Given the description of an element on the screen output the (x, y) to click on. 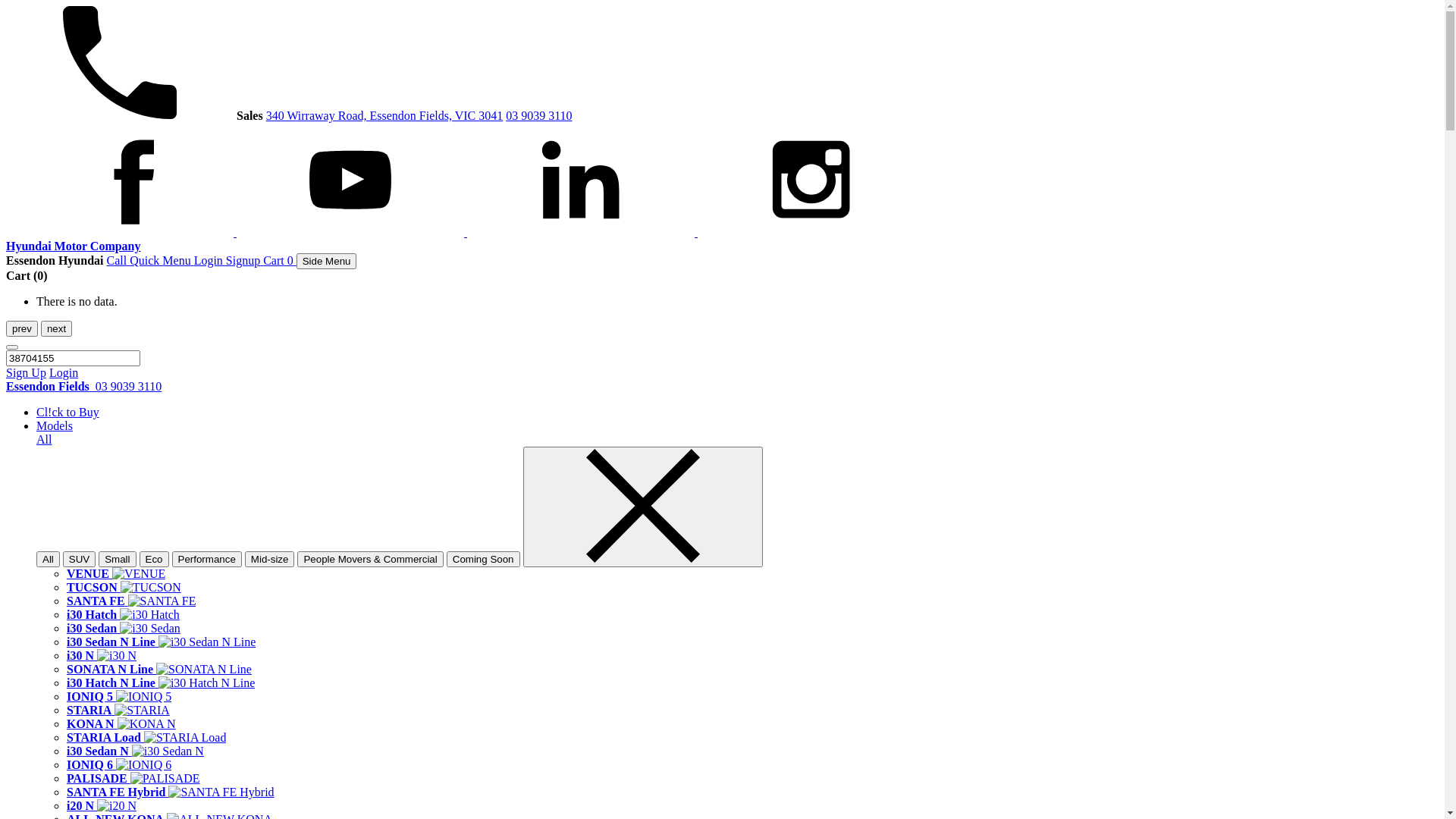
SUV Element type: text (78, 559)
STARIA Element type: text (117, 709)
Mid-size Element type: text (269, 559)
Coming Soon Element type: text (483, 559)
SONATA N Line Element type: text (158, 668)
Facebook Element type: hover (121, 231)
TUCSON Element type: text (123, 586)
Call Element type: text (118, 260)
Cart 0 Element type: text (279, 260)
STARIA Load Element type: text (145, 737)
340 Wirraway Road, Essendon Fields, VIC 3041 Element type: text (384, 115)
Login Element type: text (63, 372)
Performance Element type: text (206, 559)
VENUE Element type: text (115, 573)
KONA N Element type: text (120, 723)
i30 N Element type: text (101, 655)
i30 Hatch N Line Element type: text (160, 682)
i20 N Element type: text (101, 805)
All Element type: text (43, 439)
Eco Element type: text (154, 559)
i30 Sedan N Element type: text (134, 750)
Login Element type: text (209, 260)
LinkedIn Element type: hover (582, 231)
IONIQ 5 Element type: text (118, 696)
Instagram Element type: hover (811, 231)
Signup Element type: text (244, 260)
Sign Up Element type: text (26, 372)
Quick Menu Element type: text (161, 260)
PALISADE Element type: text (133, 777)
Models Element type: text (54, 425)
IONIQ 6 Element type: text (118, 764)
03 9039 3110 Element type: text (538, 115)
prev Element type: text (21, 328)
Small Element type: text (116, 559)
Cl!ck to Buy Element type: text (67, 411)
next Element type: text (56, 328)
i30 Hatch Element type: text (122, 614)
SANTA FE Hybrid Element type: text (170, 791)
All Element type: text (47, 559)
Hyundai Motor Company Element type: text (73, 245)
SANTA FE Element type: text (130, 600)
i30 Sedan N Line Element type: text (160, 641)
YouTube Element type: hover (351, 231)
Side Menu Element type: text (326, 261)
Essendon Fields  03 9039 3110 Element type: text (83, 385)
i30 Sedan Element type: text (123, 627)
People Movers & Commercial Element type: text (369, 559)
